Given the description of an element on the screen output the (x, y) to click on. 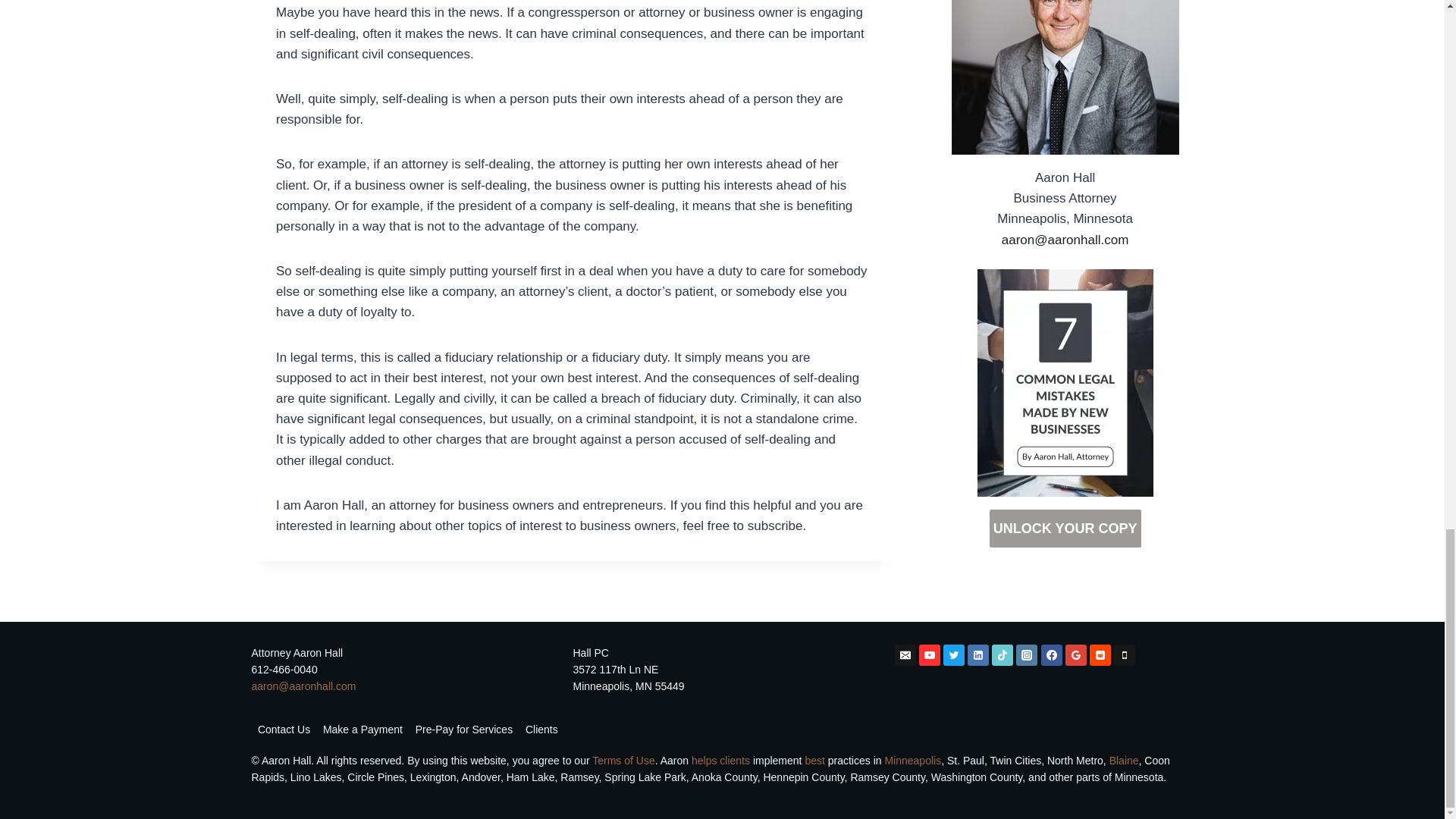
Minneapolis (911, 760)
Blaine (1123, 760)
best (814, 760)
clients (734, 760)
helps (703, 760)
Terms of Use (622, 760)
Pre-Pay for Services (463, 730)
Clients (541, 730)
Contact Us (284, 730)
Make a Payment (363, 730)
